Given the description of an element on the screen output the (x, y) to click on. 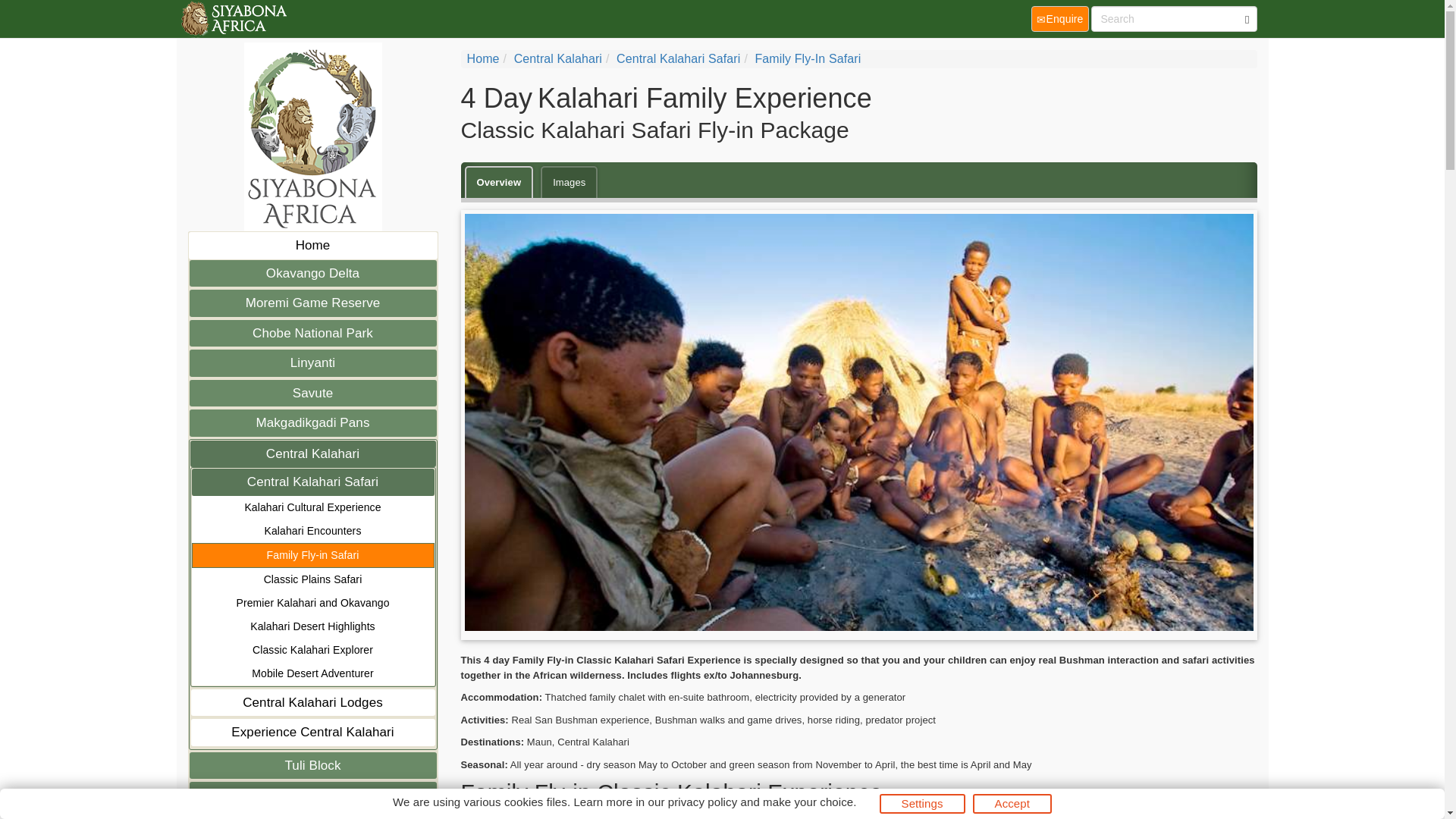
Mobile Desert Adventurer (311, 672)
Okavango Delta (312, 272)
Overview (498, 182)
Classic Plains Safari (311, 578)
Tuli Block (312, 765)
Central Kalahari (312, 452)
View Images (568, 182)
Home (483, 58)
Classic Kalahari Explorer (311, 649)
Central Kalahari Lodges (312, 701)
